Given the description of an element on the screen output the (x, y) to click on. 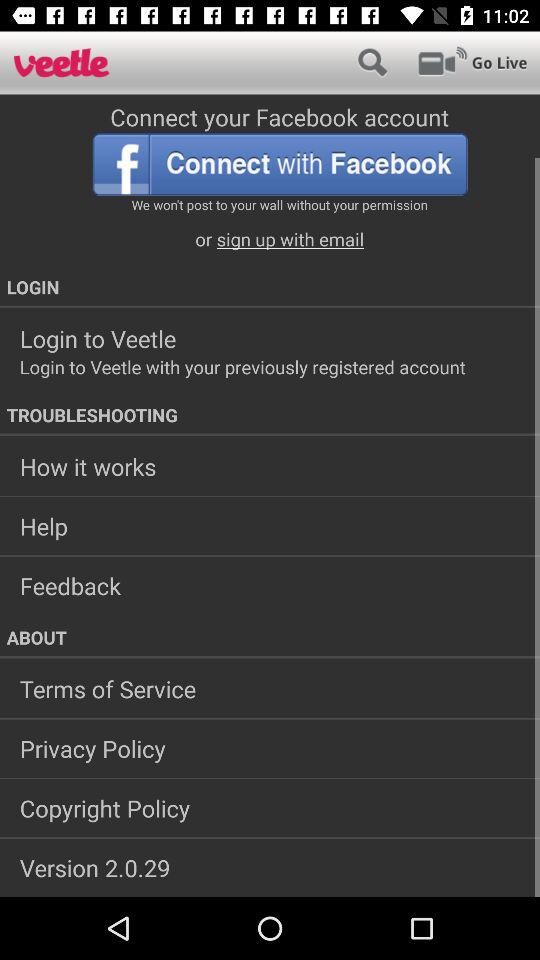
livestream (472, 62)
